Given the description of an element on the screen output the (x, y) to click on. 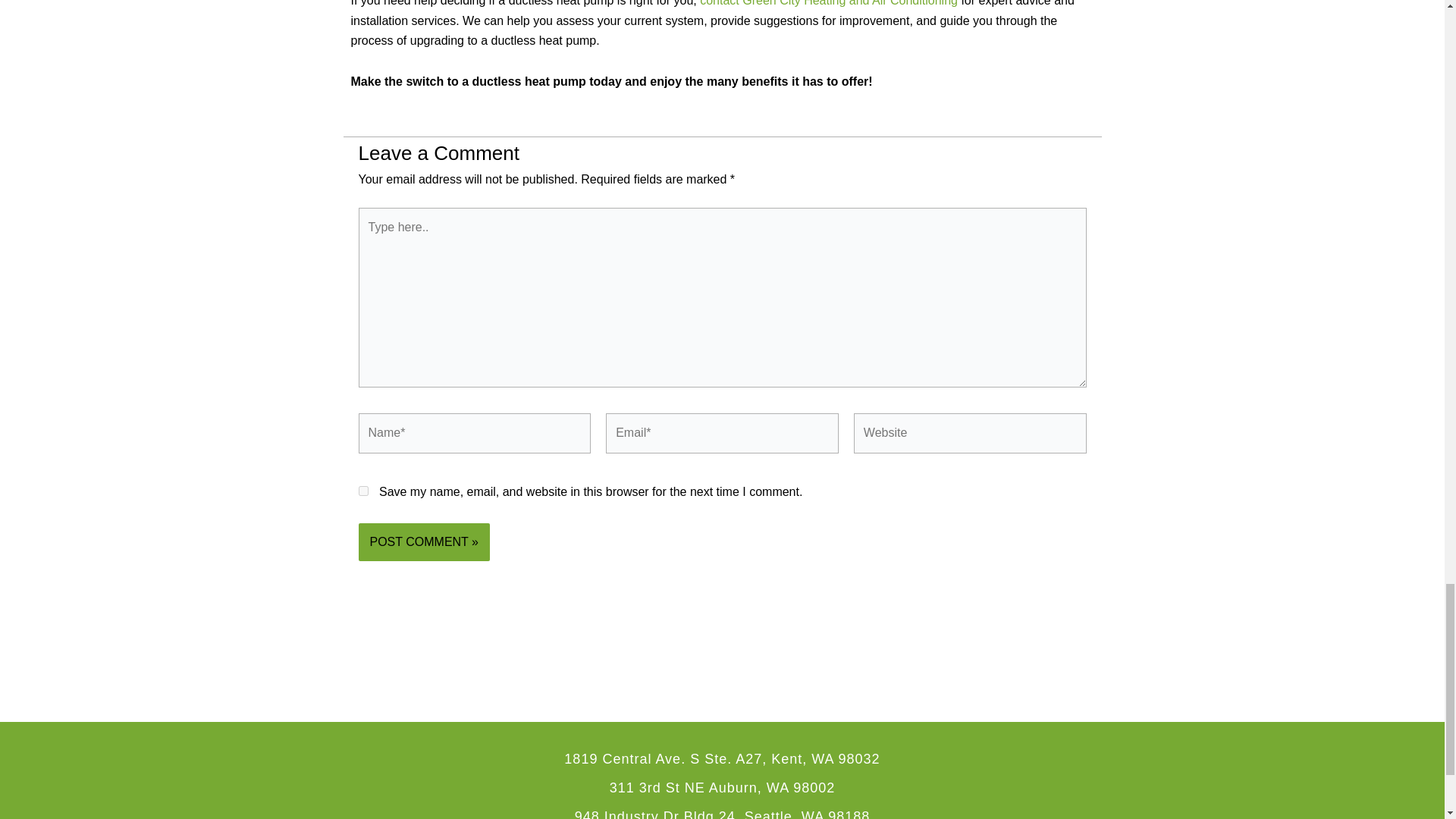
311 3rd St NE Auburn, WA 98002 (722, 787)
contact Green City Heating and Air Conditioning (829, 3)
948 Industry Dr Bldg 24, Seattle, WA 98188 (722, 814)
1819 Central Ave. S Ste. A27, Kent, WA 98032 (721, 758)
yes (363, 491)
